Given the description of an element on the screen output the (x, y) to click on. 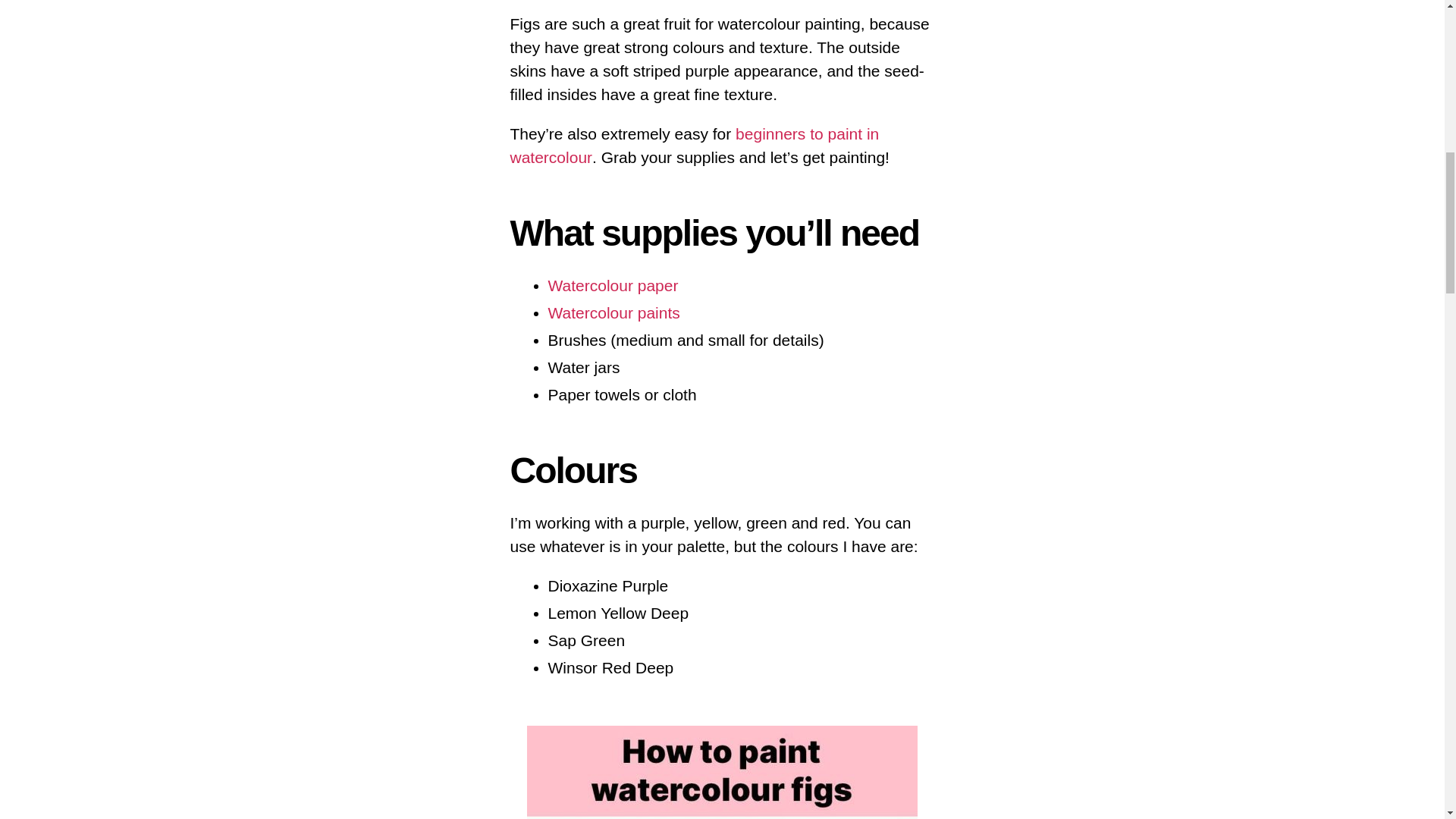
Watercolour paints (613, 312)
beginners to paint in watercolour (694, 145)
Watercolour paper (612, 285)
